Given the description of an element on the screen output the (x, y) to click on. 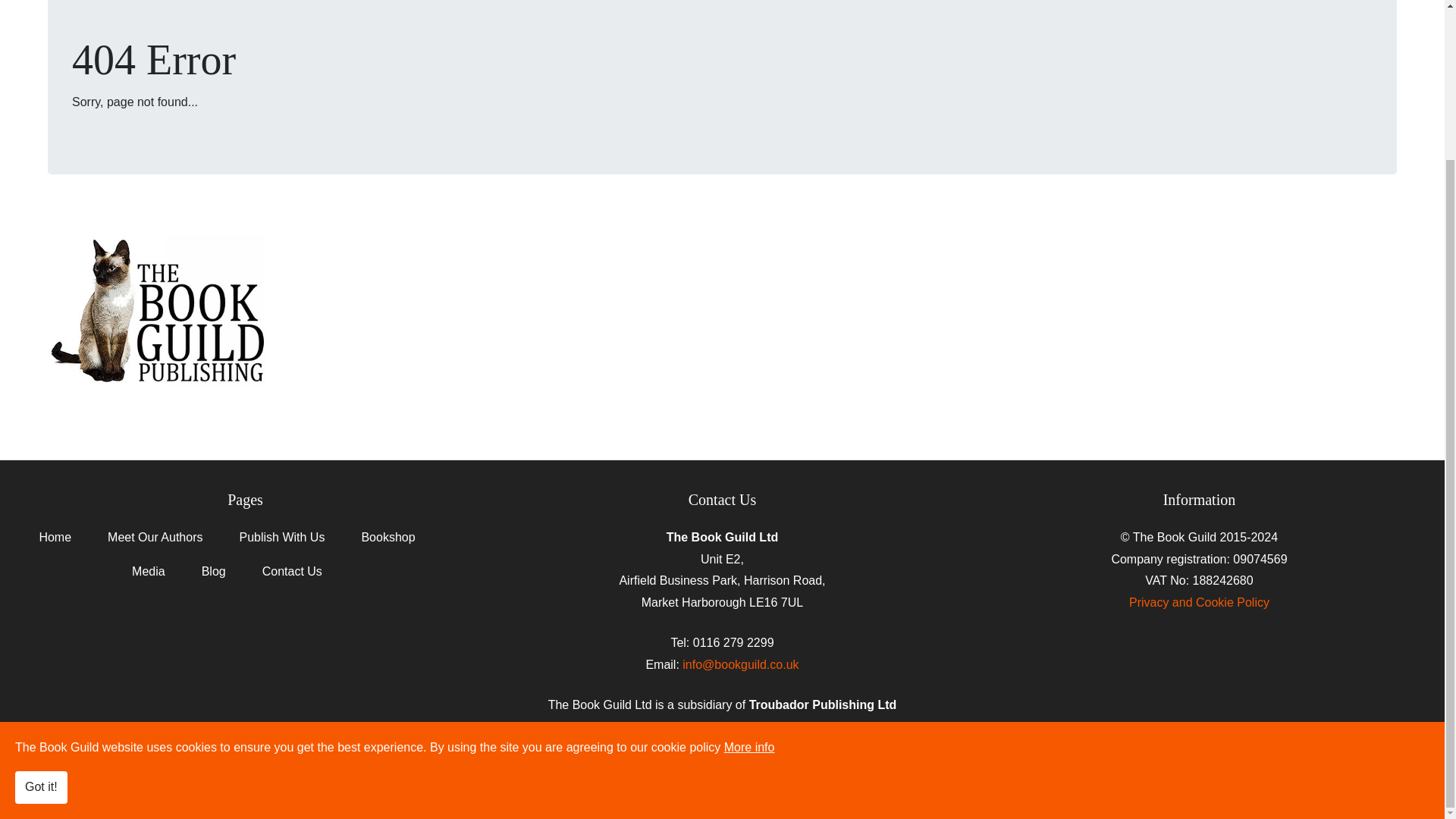
Home (55, 544)
Media (148, 578)
Contact Us (291, 578)
Meet Our Authors (154, 544)
Got it! (40, 599)
More info (748, 558)
Publish With Us (281, 544)
Bookshop (387, 544)
Troubador Publishing Ltd (772, 797)
Privacy and Cookie Policy (1199, 602)
